Given the description of an element on the screen output the (x, y) to click on. 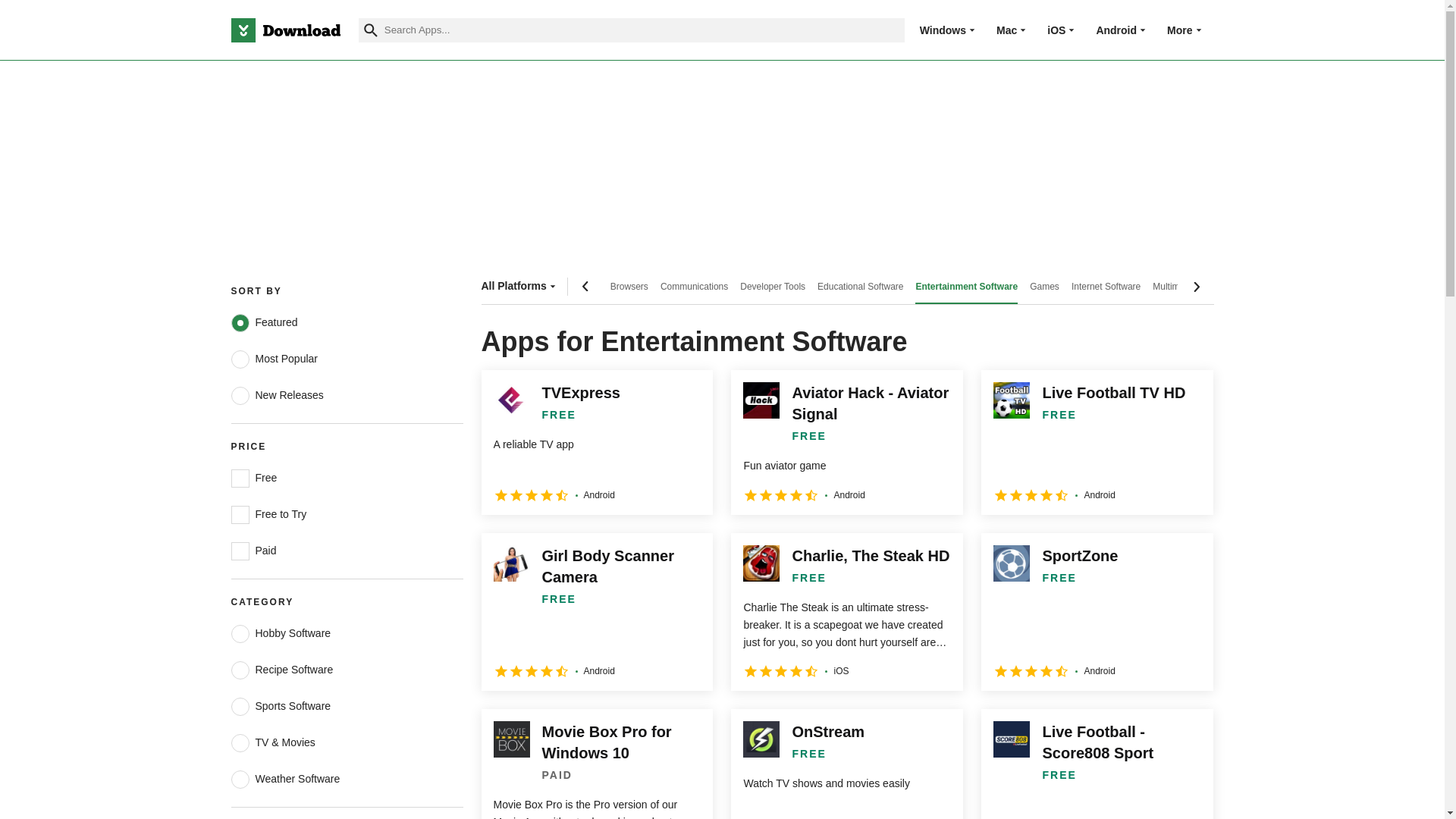
OnStream (846, 764)
Windows (943, 29)
home-weather (239, 779)
mostPopular (239, 359)
free (239, 478)
paid (239, 551)
home-food-cooking (239, 669)
SportZone (1096, 612)
Girl Body Scanner Camera (596, 612)
Movie Box Pro for Windows 10 (596, 764)
